Given the description of an element on the screen output the (x, y) to click on. 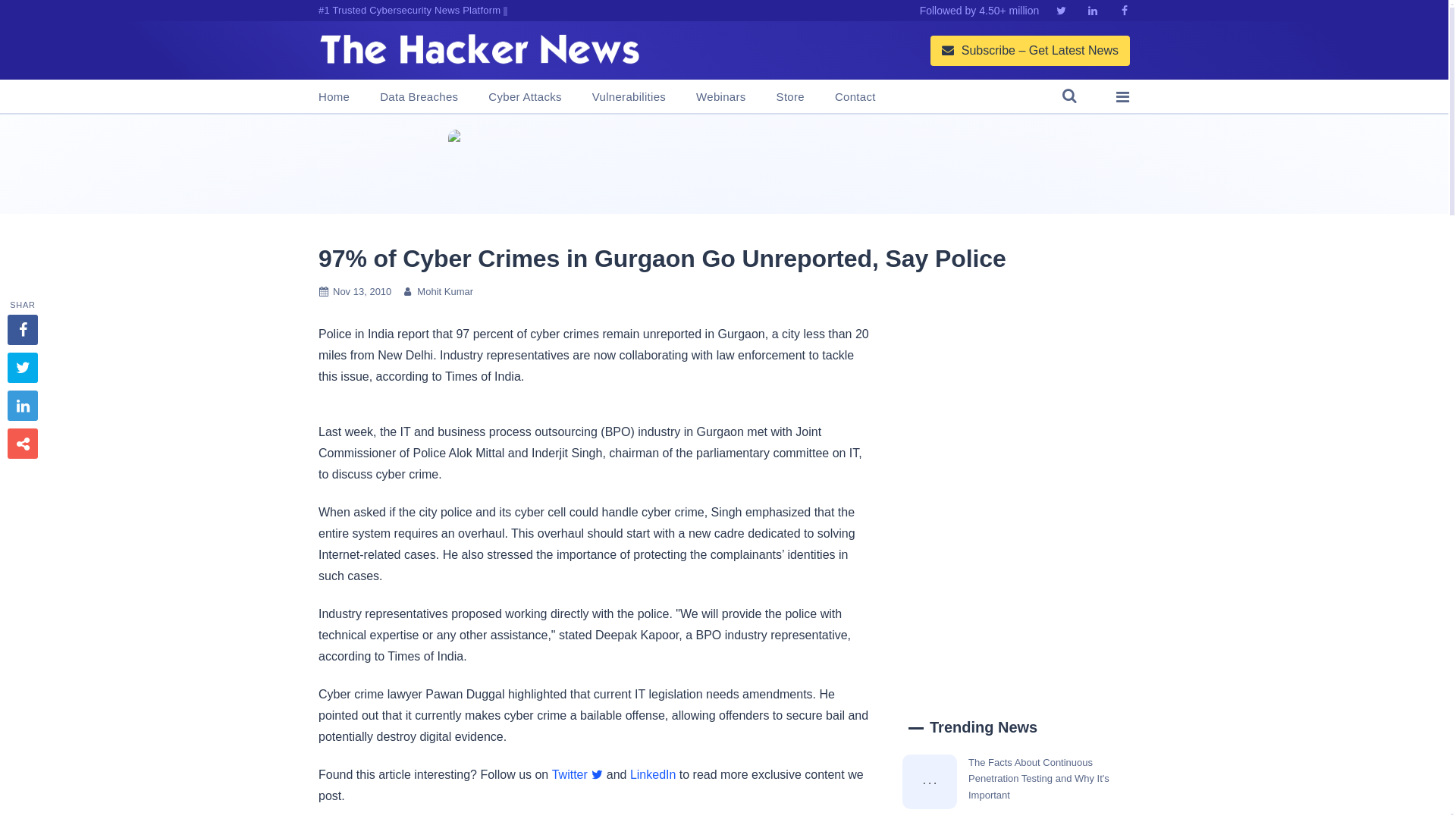
LinkedIn (653, 774)
Webinars (720, 96)
Vulnerabilities (628, 96)
Home (333, 96)
Data Breaches (419, 96)
Contact (855, 96)
Cyber Attacks (523, 96)
